Given the description of an element on the screen output the (x, y) to click on. 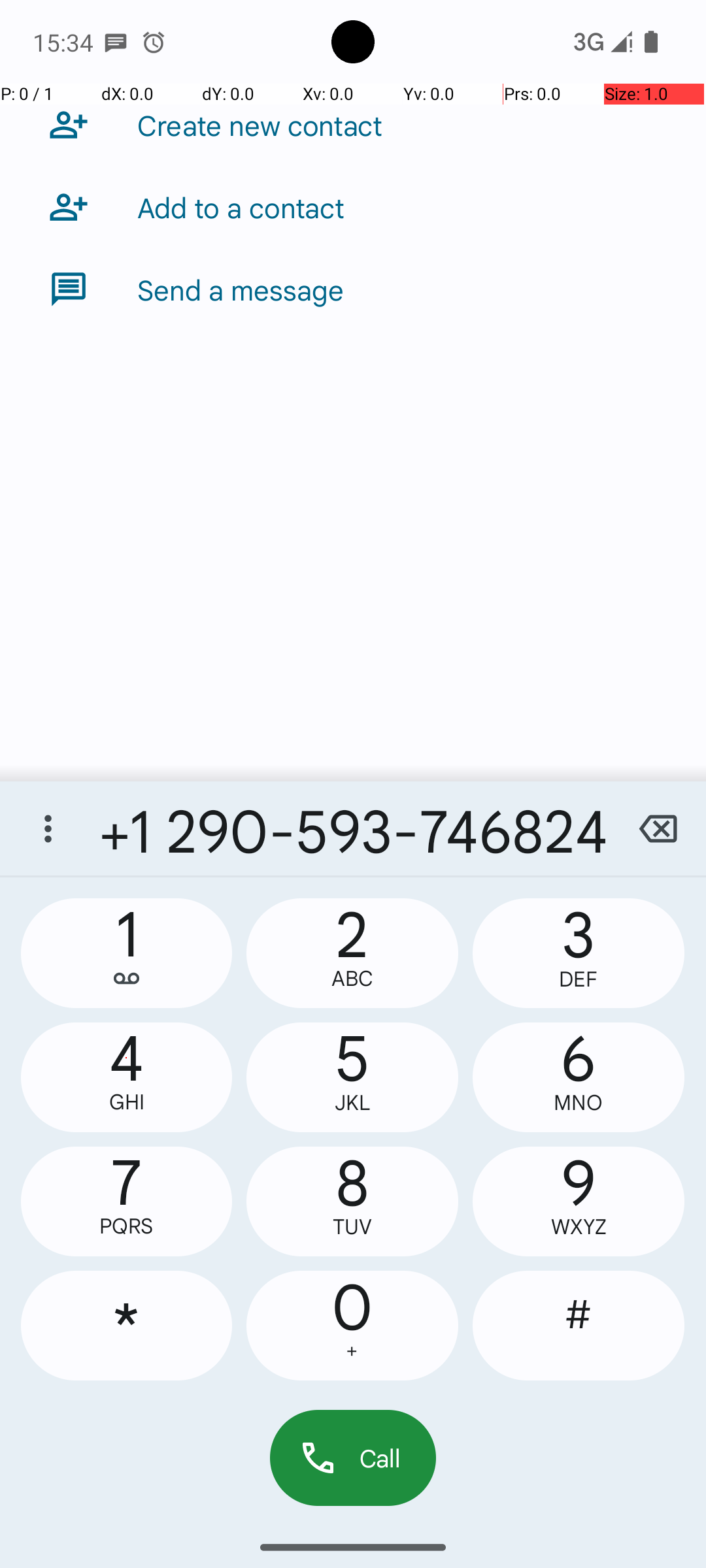
+1 290-593-746824 Element type: android.widget.EditText (352, 828)
